Given the description of an element on the screen output the (x, y) to click on. 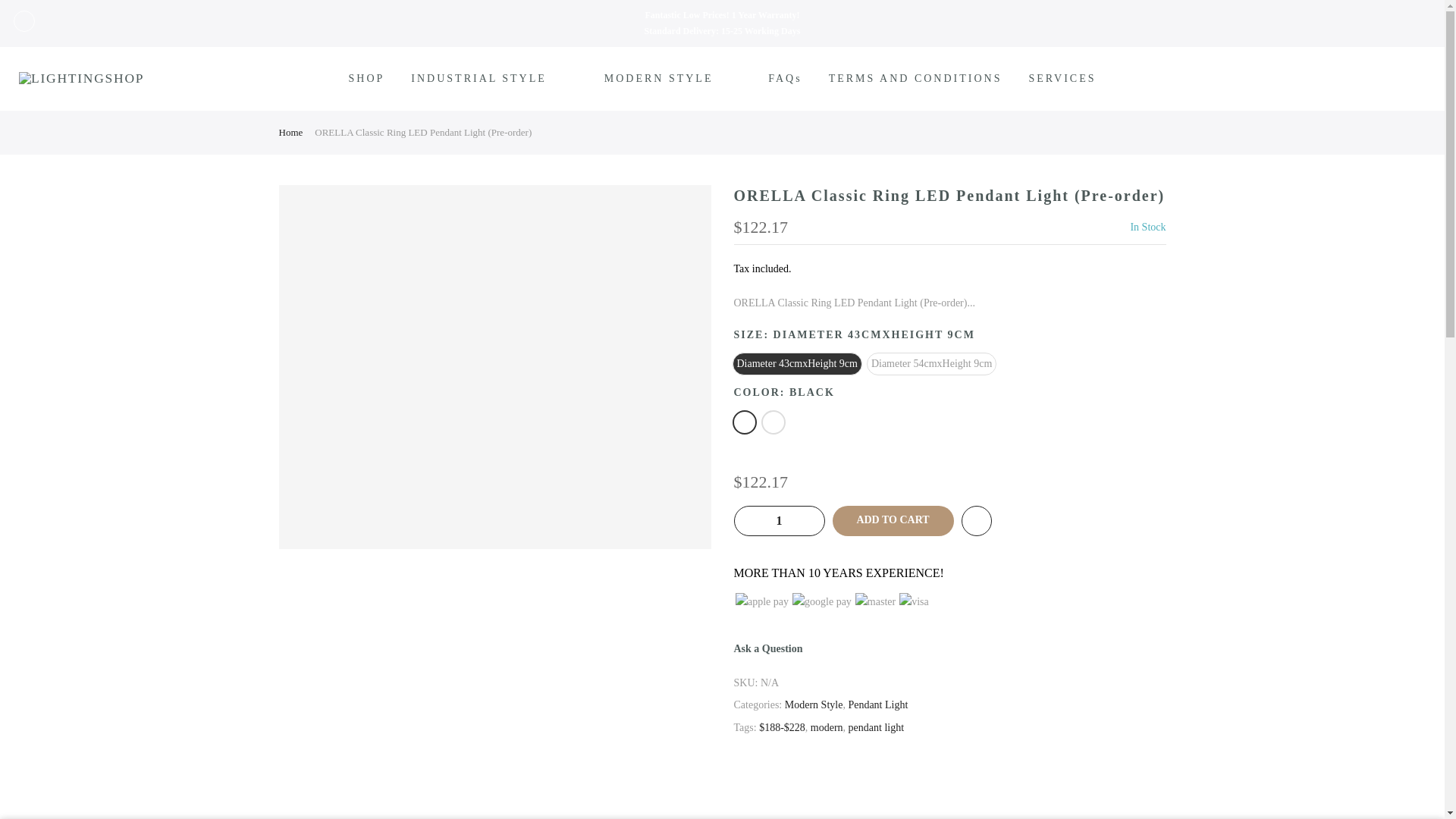
1 (778, 520)
SERVICES (1061, 78)
Home (290, 132)
TERMS AND CONDITIONS (914, 78)
MODERN STYLE (673, 78)
SHOP (365, 78)
INDUSTRIAL STYLE (494, 78)
FAQs (785, 78)
